Given the description of an element on the screen output the (x, y) to click on. 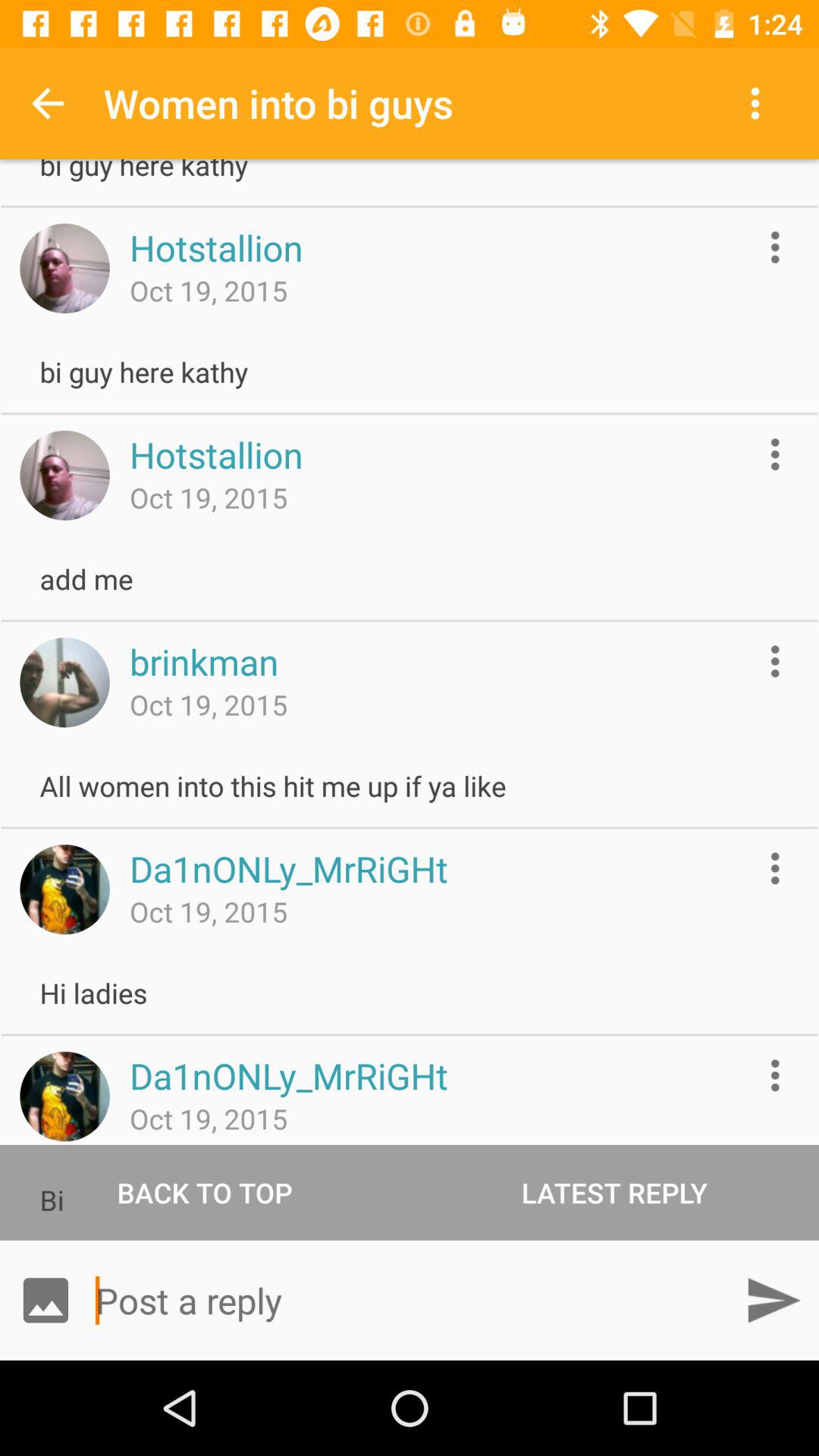
write reply (409, 1300)
